Given the description of an element on the screen output the (x, y) to click on. 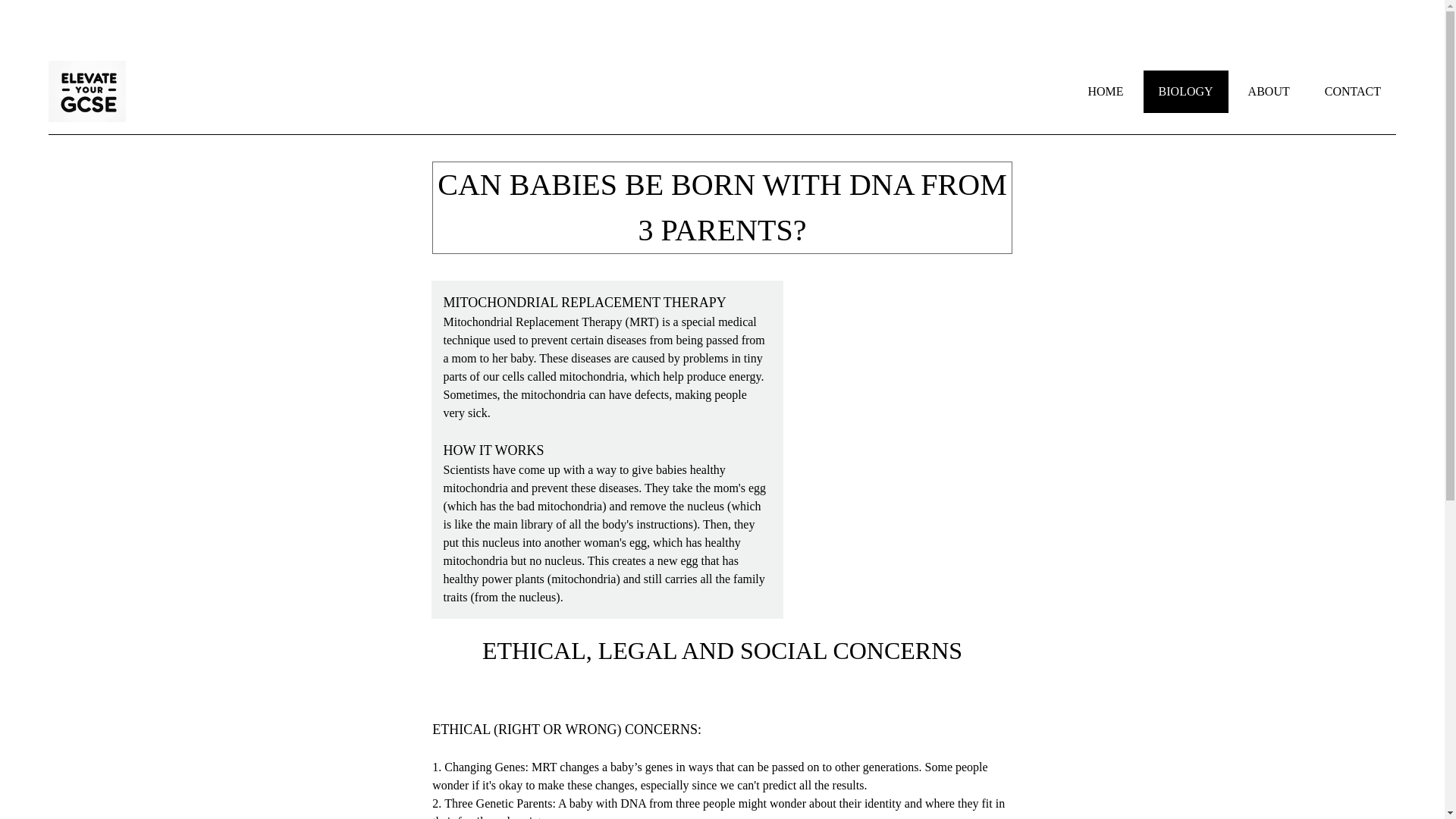
BIOLOGY (1185, 90)
ABOUT (1268, 90)
HOME (1104, 90)
